Given the description of an element on the screen output the (x, y) to click on. 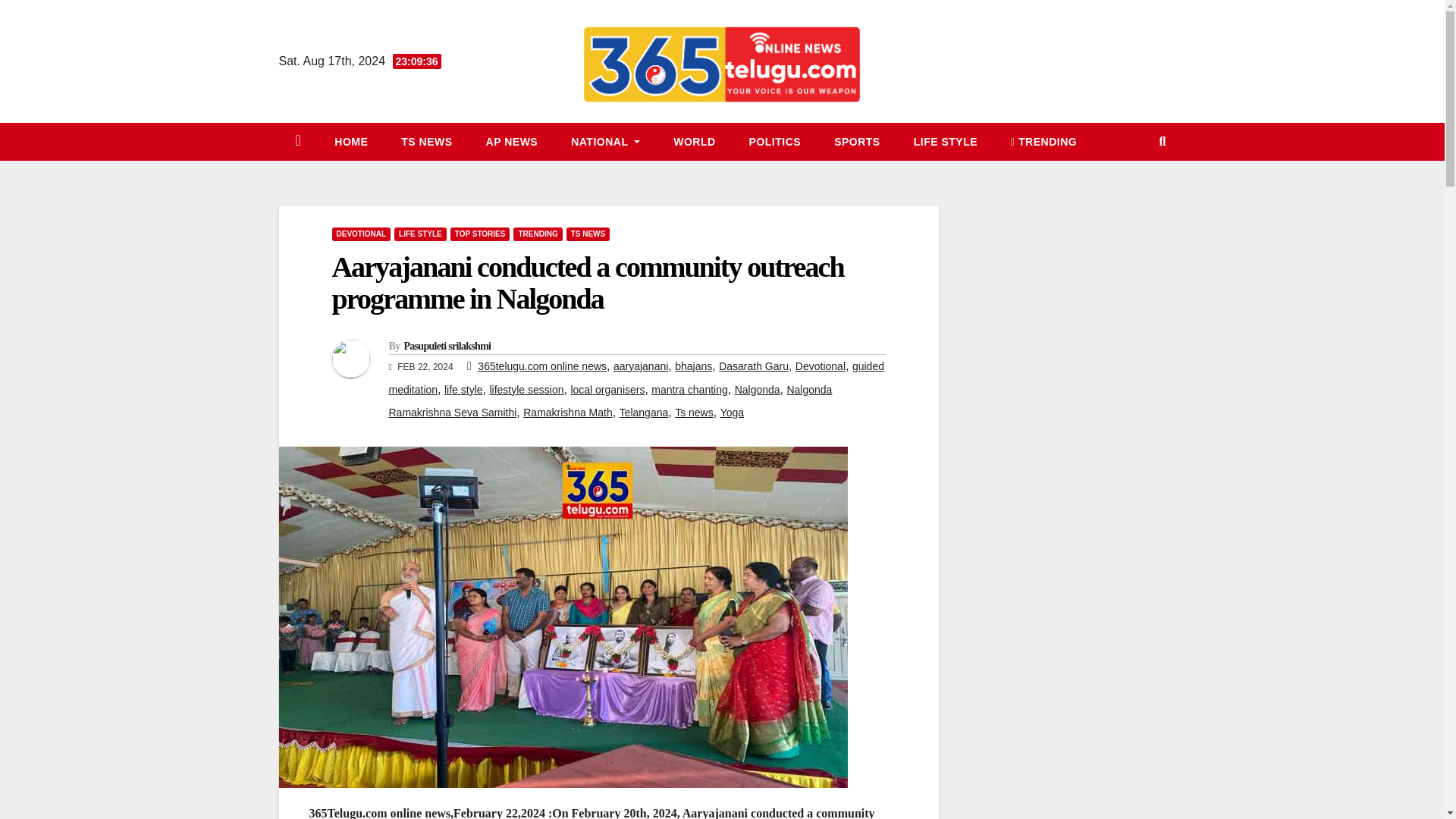
National (605, 141)
Politics (775, 141)
POLITICS (775, 141)
aaryajanani (640, 365)
HOME (350, 141)
 TRENDING (1043, 141)
Pasupuleti srilakshmi (446, 346)
AP NEWS (511, 141)
TS NEWS (426, 141)
DEVOTIONAL (361, 233)
